Given the description of an element on the screen output the (x, y) to click on. 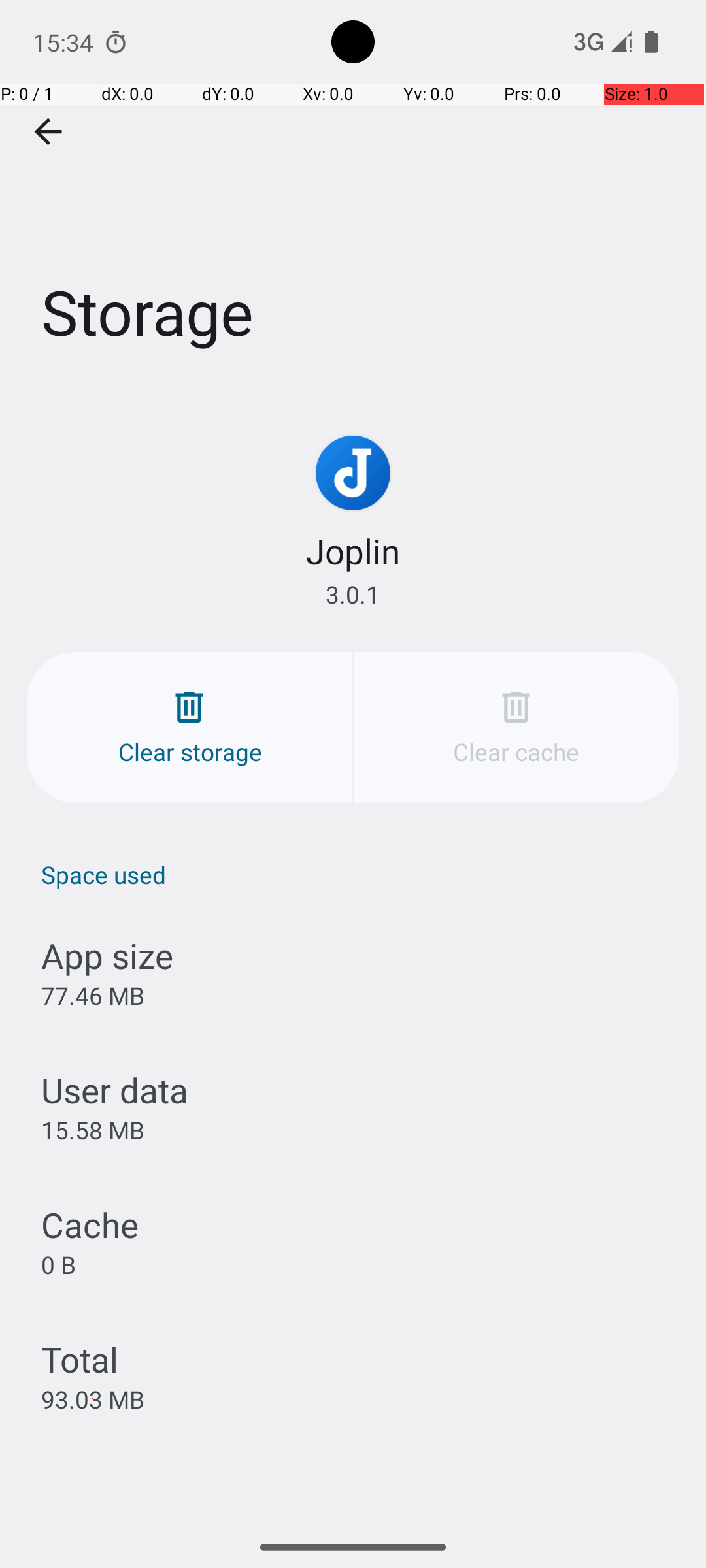
3.0.1 Element type: android.widget.TextView (352, 593)
77.46 MB Element type: android.widget.TextView (92, 995)
15.58 MB Element type: android.widget.TextView (92, 1129)
93.03 MB Element type: android.widget.TextView (92, 1398)
